Given the description of an element on the screen output the (x, y) to click on. 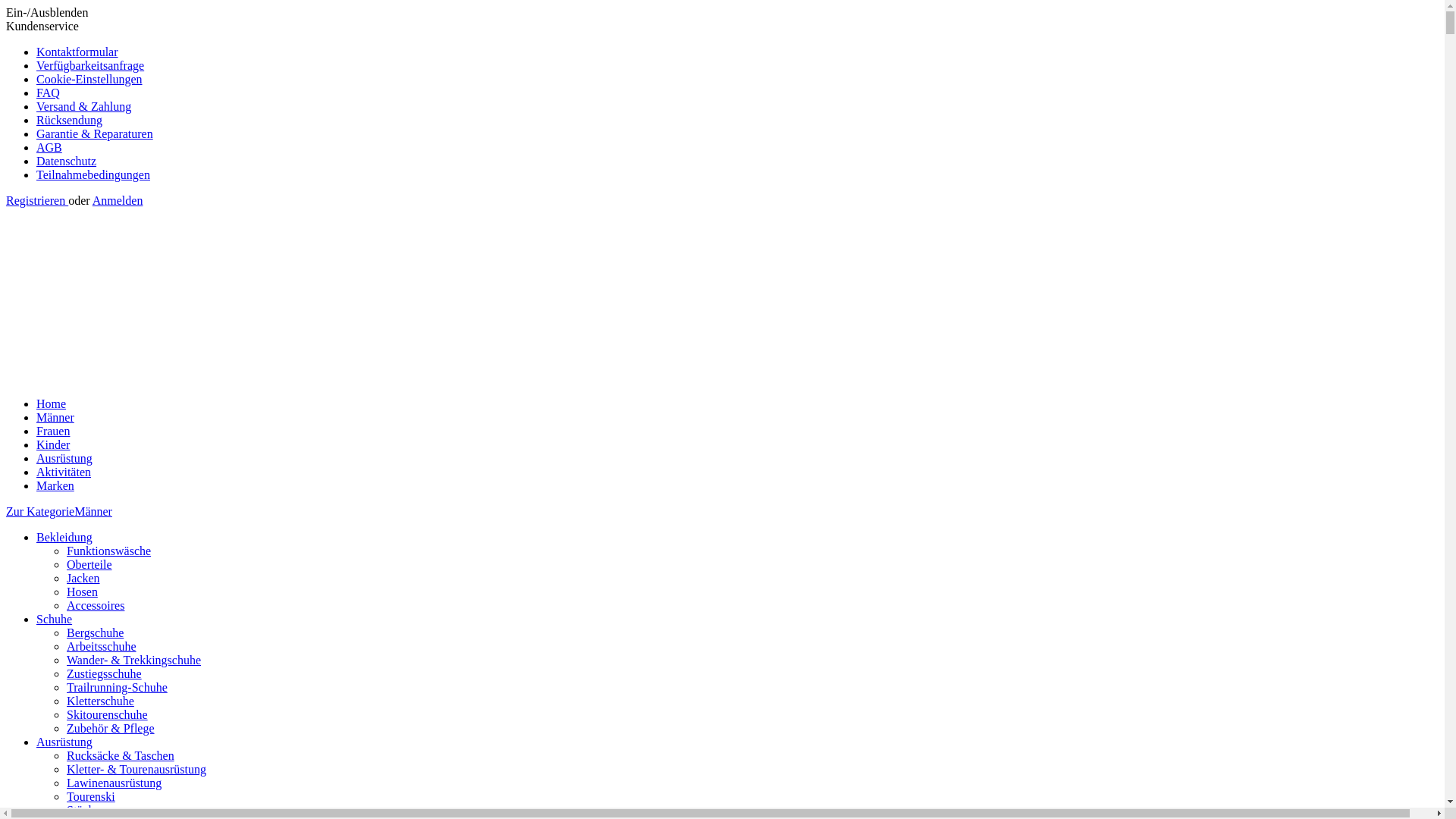
Arbeitsschuhe Element type: text (101, 646)
Cookie-Einstellungen Element type: text (89, 78)
Home Element type: text (50, 403)
Registrieren Element type: text (37, 200)
Alpine Outfitters - zur Startseite wechseln Element type: hover (233, 377)
Kletterschuhe Element type: text (100, 700)
Kontaktformular Element type: text (77, 51)
Tourenski Element type: text (90, 796)
Anmelden Element type: text (117, 200)
Wander- & Trekkingschuhe Element type: text (133, 659)
Accessoires Element type: text (95, 605)
Kinder Element type: text (52, 444)
Oberteile Element type: text (89, 564)
Hosen Element type: text (81, 591)
Schuhe Element type: text (54, 618)
AGB Element type: text (49, 147)
FAQ Element type: text (47, 92)
Teilnahmebedingungen Element type: text (93, 174)
Jacken Element type: text (83, 577)
Marken Element type: text (55, 485)
Bekleidung Element type: text (64, 536)
Versand & Zahlung Element type: text (83, 106)
Trailrunning-Schuhe Element type: text (116, 686)
Bergschuhe Element type: text (94, 632)
Garantie & Reparaturen Element type: text (94, 133)
Datenschutz Element type: text (66, 160)
Frauen Element type: text (52, 430)
Skitourenschuhe Element type: text (106, 714)
Zustiegsschuhe Element type: text (103, 673)
